Given the description of an element on the screen output the (x, y) to click on. 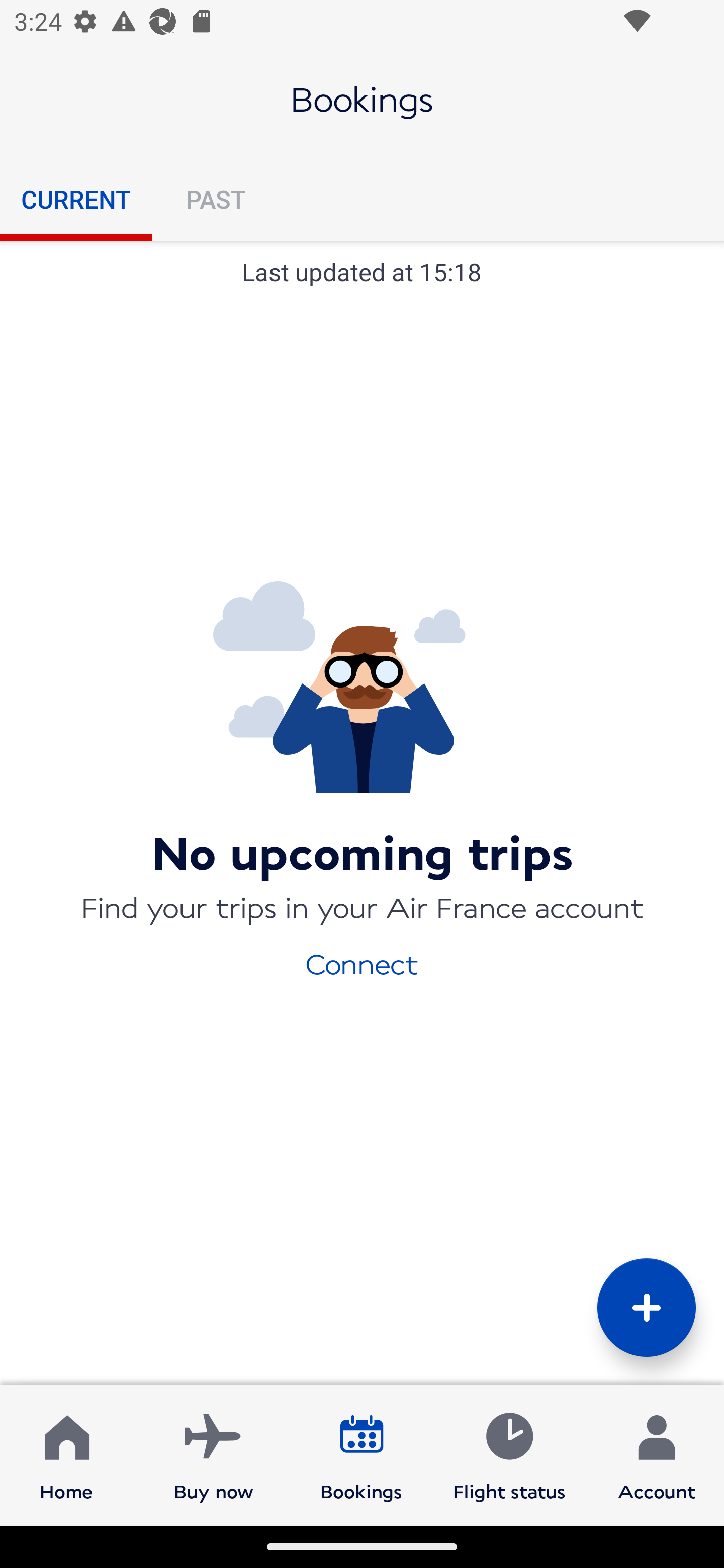
PAST (215, 198)
Connect (361, 963)
Home (66, 1454)
Buy now (213, 1454)
Flight status (509, 1454)
Account (657, 1454)
